Given the description of an element on the screen output the (x, y) to click on. 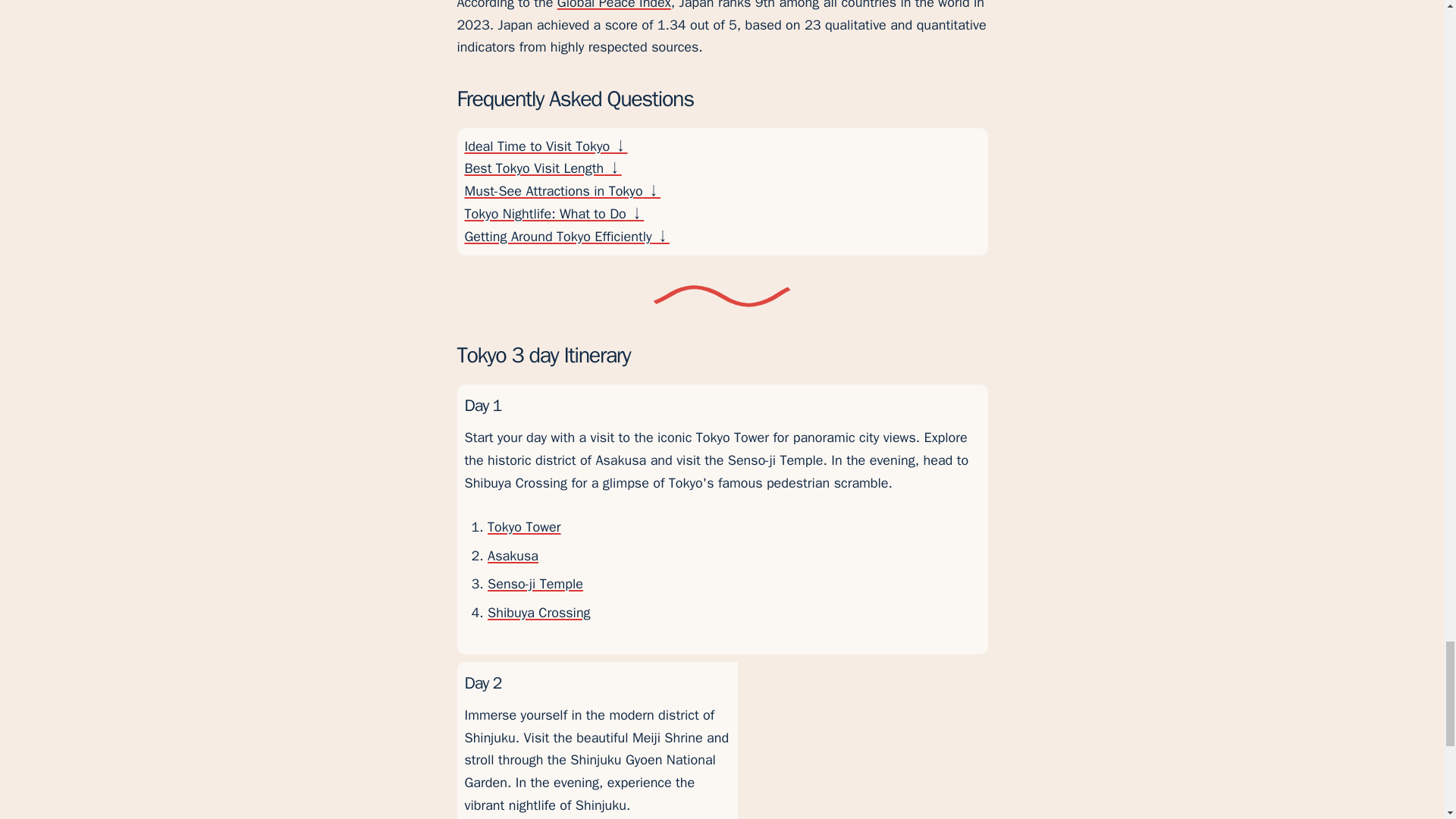
Must-See Attractions in Tokyo (721, 191)
Ideal Time to Visit Tokyo (721, 146)
Best Tokyo Visit Length (721, 169)
Tokyo Nightlife: What to Do (721, 214)
Shibuya Crossing (539, 612)
Global Peace Index (614, 5)
Getting Around Tokyo Efficiently (721, 237)
Asakusa (512, 555)
Senso-ji Temple (535, 583)
Tokyo Tower (523, 526)
